Given the description of an element on the screen output the (x, y) to click on. 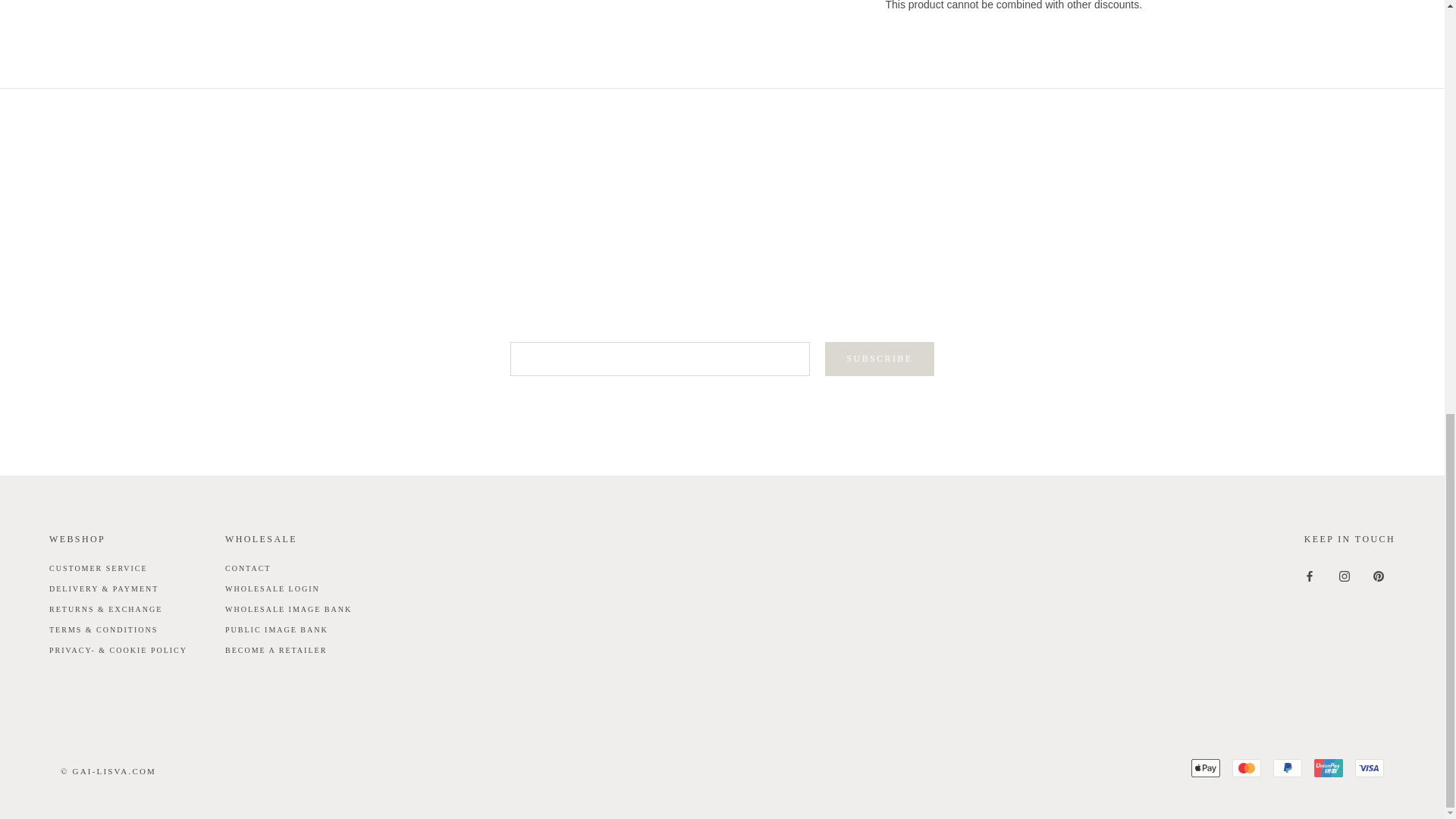
Visa (1369, 768)
Union Pay (1328, 768)
PayPal (1286, 768)
Apple Pay (1205, 768)
Mastercard (1245, 768)
